Given the description of an element on the screen output the (x, y) to click on. 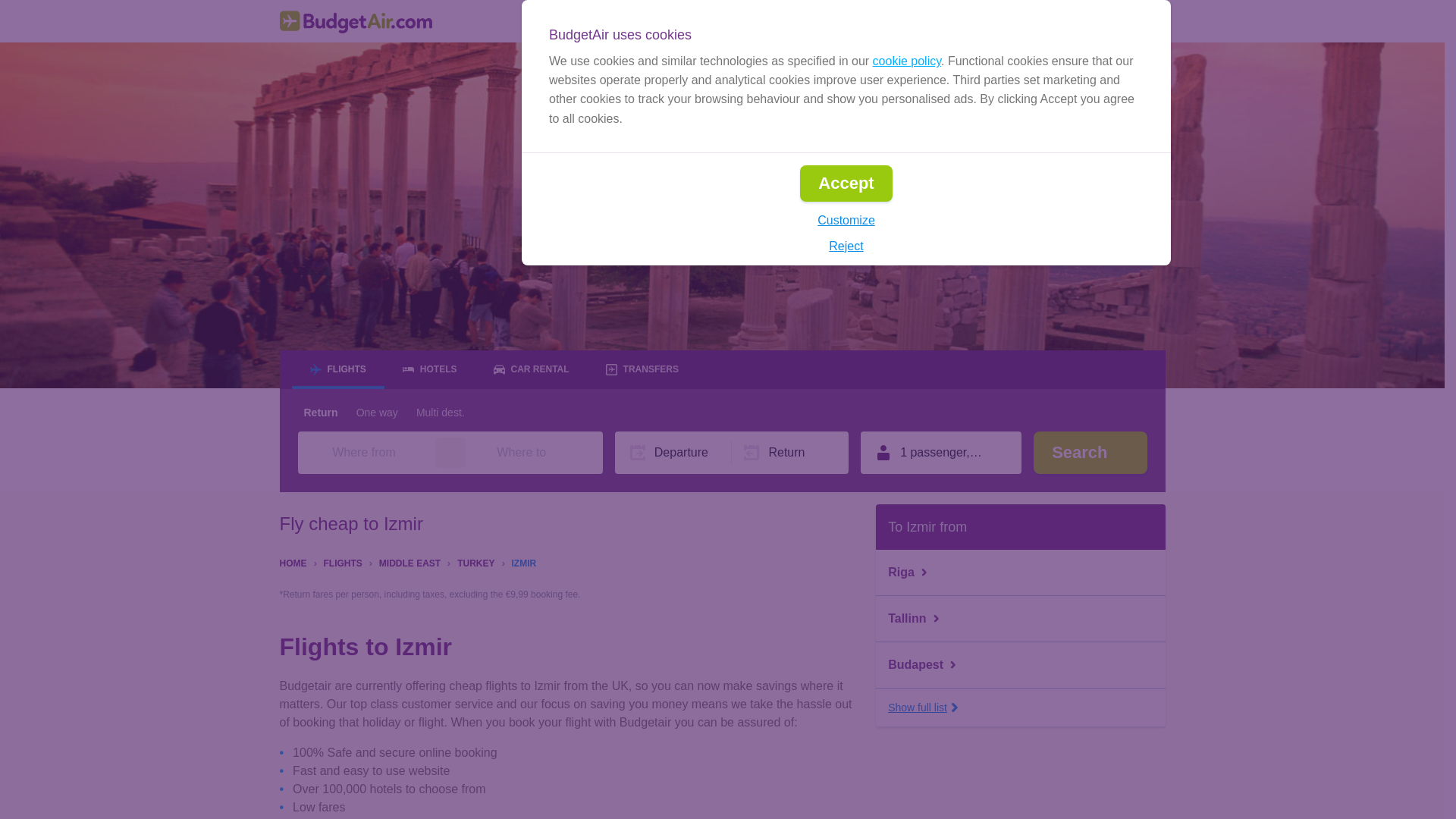
MIDDLE EAST (409, 562)
FLIGHTS (342, 562)
cookie policy (906, 60)
English (902, 21)
Accept (845, 183)
Search (1090, 452)
TURKEY (476, 562)
My Account (1116, 21)
HOME (292, 562)
